Given the description of an element on the screen output the (x, y) to click on. 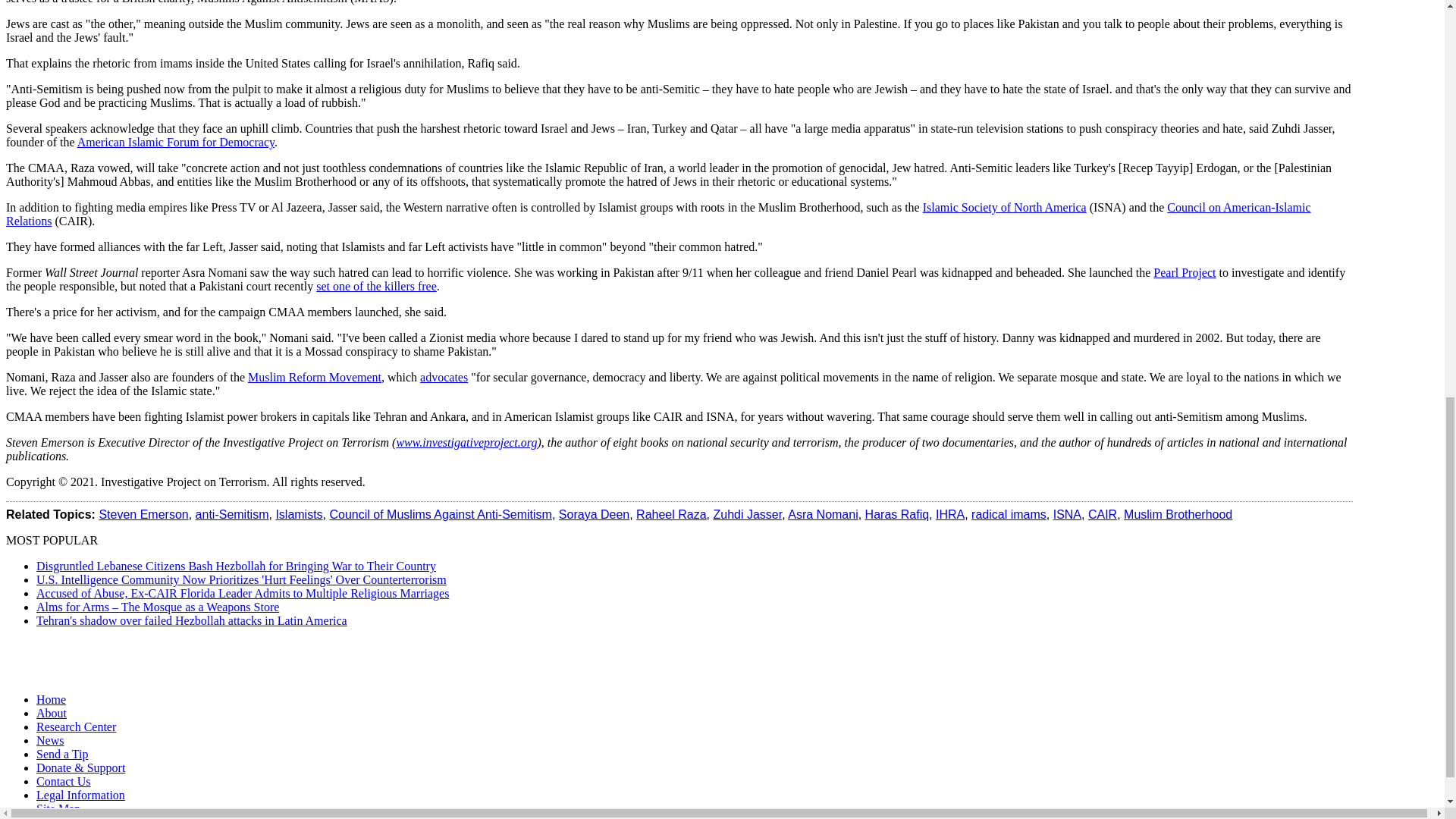
Pearl Project (1184, 272)
American Islamic Forum for Democracy (176, 141)
Council on American-Islamic Relations (658, 213)
set one of the killers free (375, 286)
Islamic Society of North America (1004, 206)
